Given the description of an element on the screen output the (x, y) to click on. 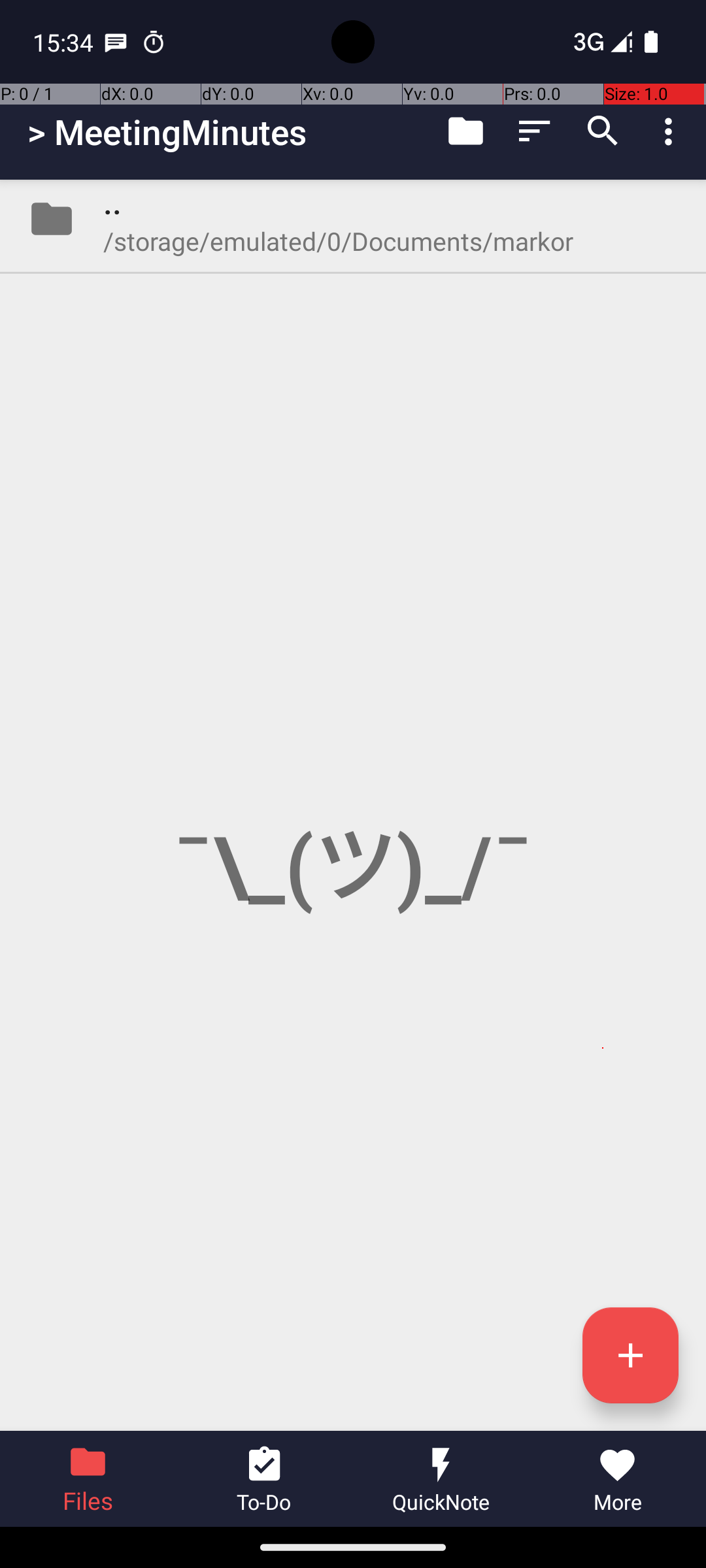
> MeetingMinutes Element type: android.widget.TextView (166, 131)
